Given the description of an element on the screen output the (x, y) to click on. 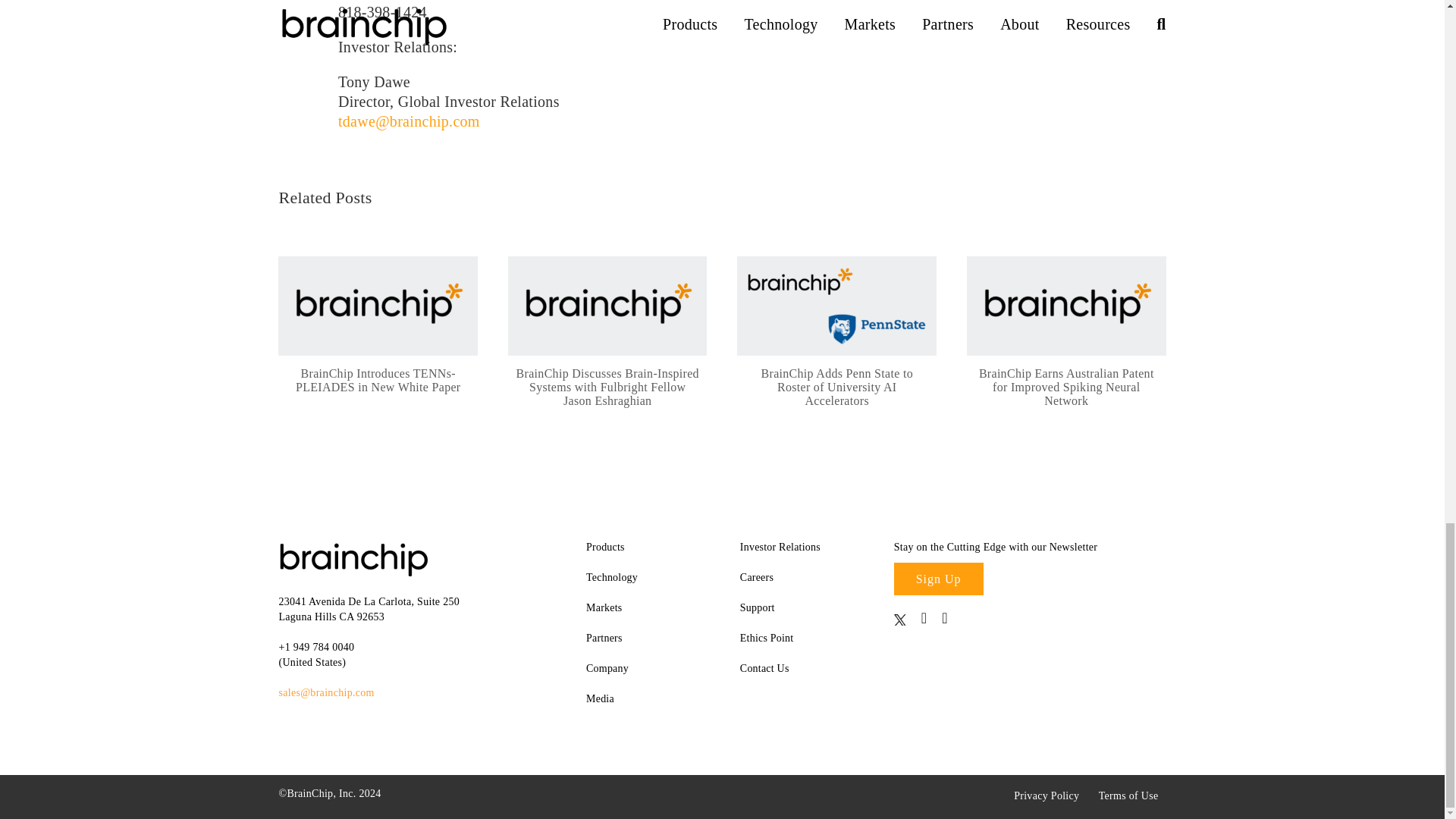
BrainChip Introduces TENNs-PLEIADES in New White Paper (377, 305)
